Given the description of an element on the screen output the (x, y) to click on. 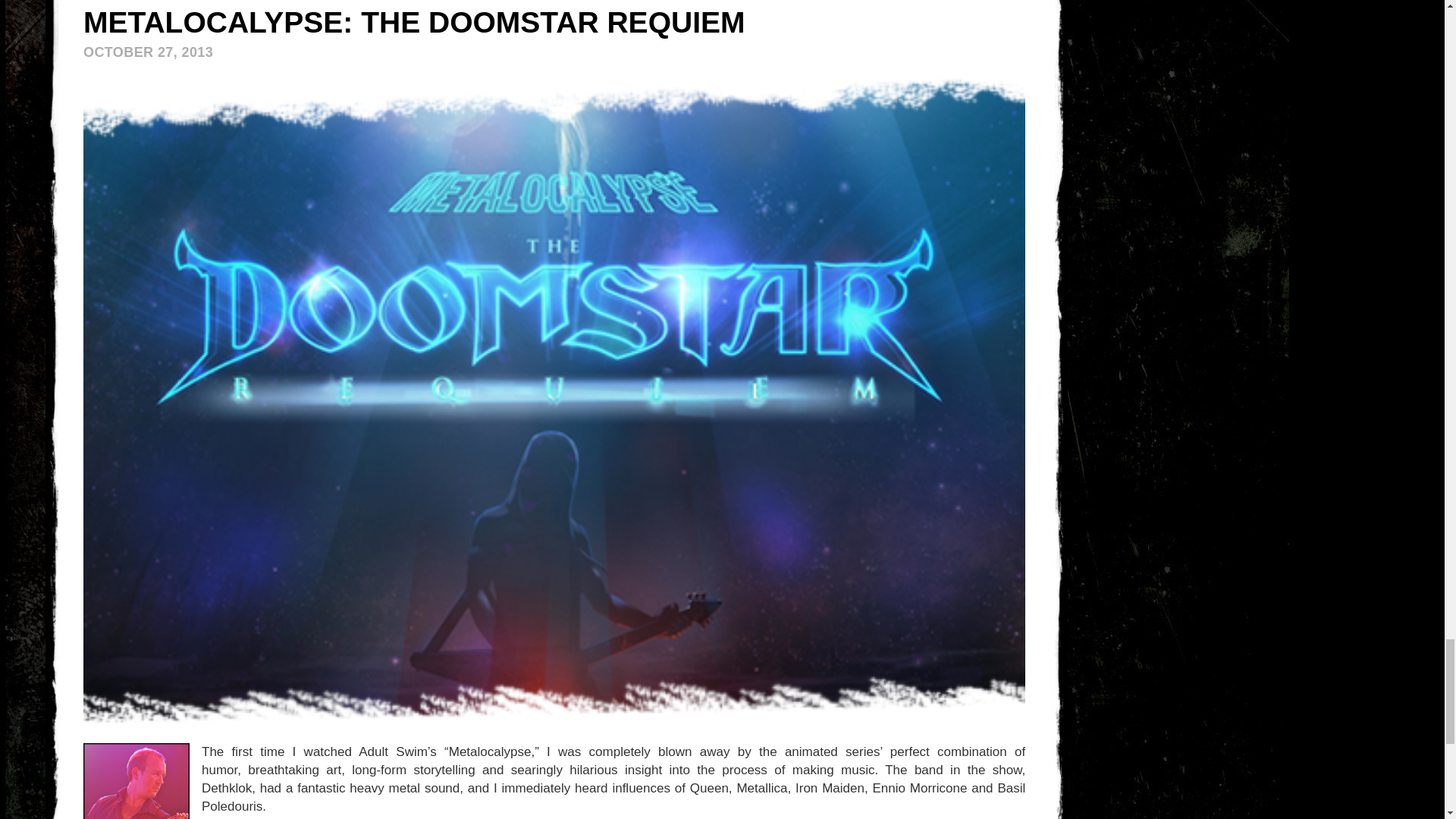
METALOCALYPSE: THE DOOMSTAR REQUIEM (413, 21)
